Given the description of an element on the screen output the (x, y) to click on. 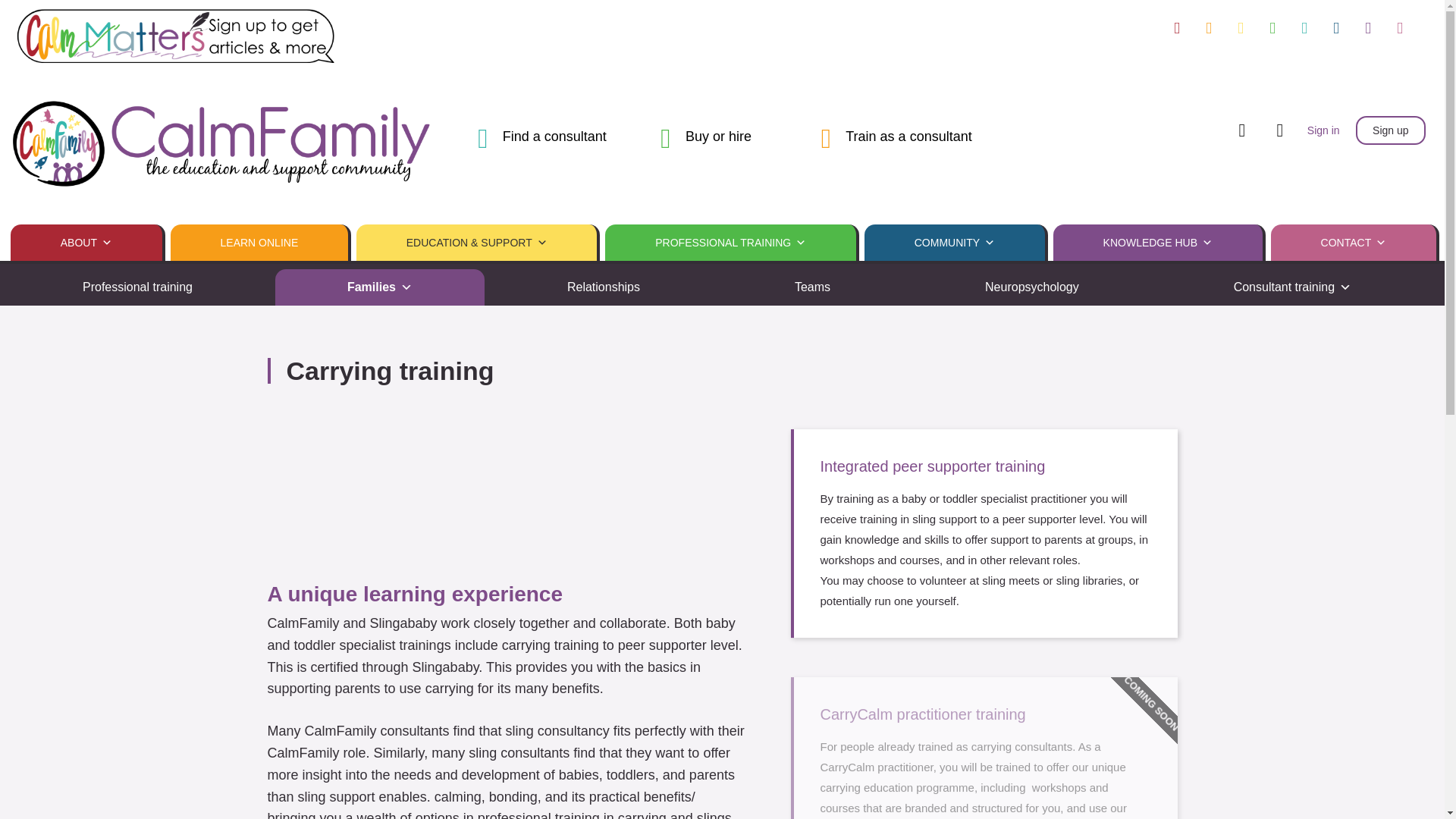
Sign in (1323, 130)
Train as a consultant (908, 136)
Find a consultant (554, 136)
Buy or hire (718, 136)
Sign up (1390, 130)
